Given the description of an element on the screen output the (x, y) to click on. 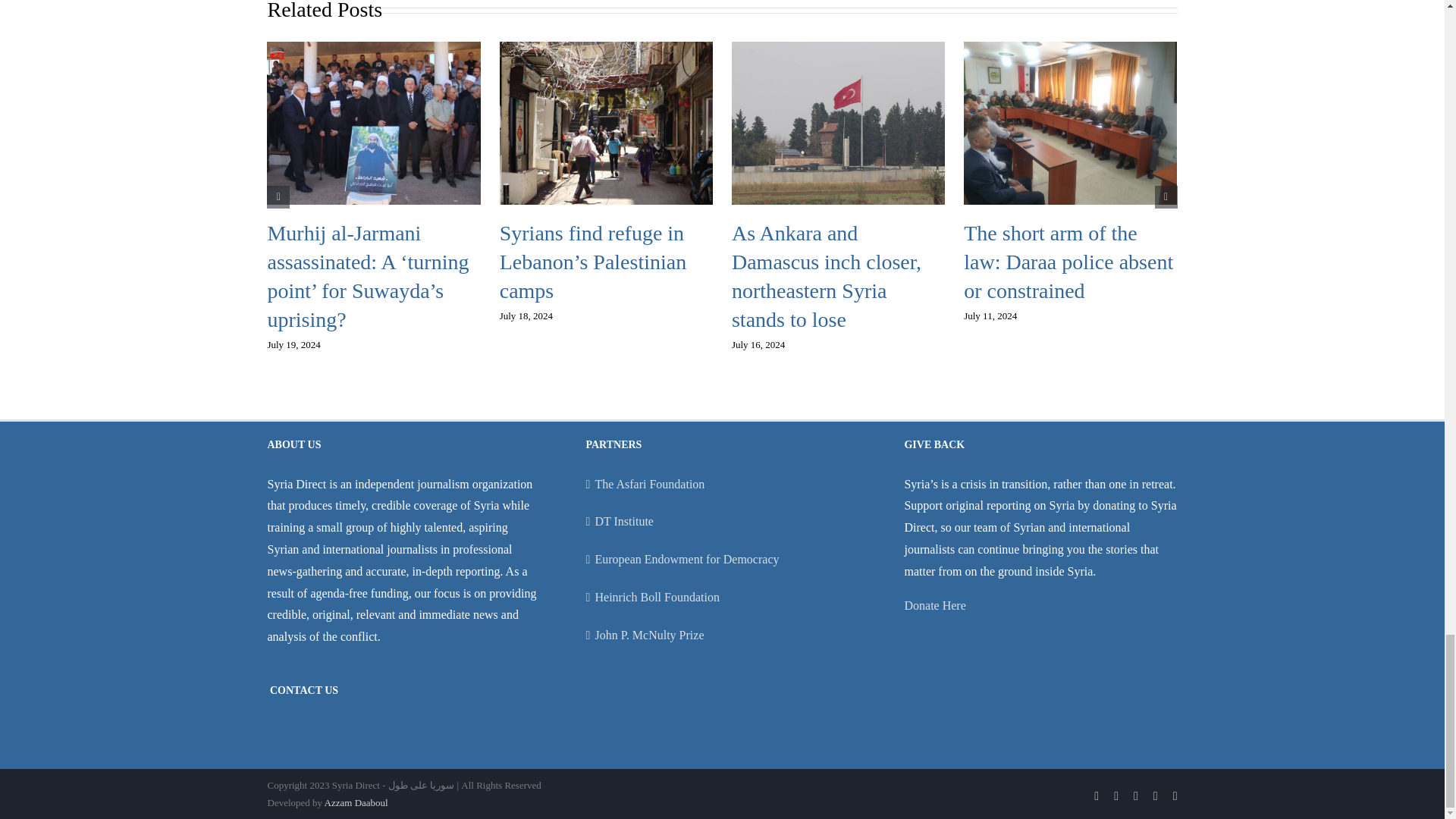
The short arm of the law: Daraa police absent or constrained (1068, 261)
